Given the description of an element on the screen output the (x, y) to click on. 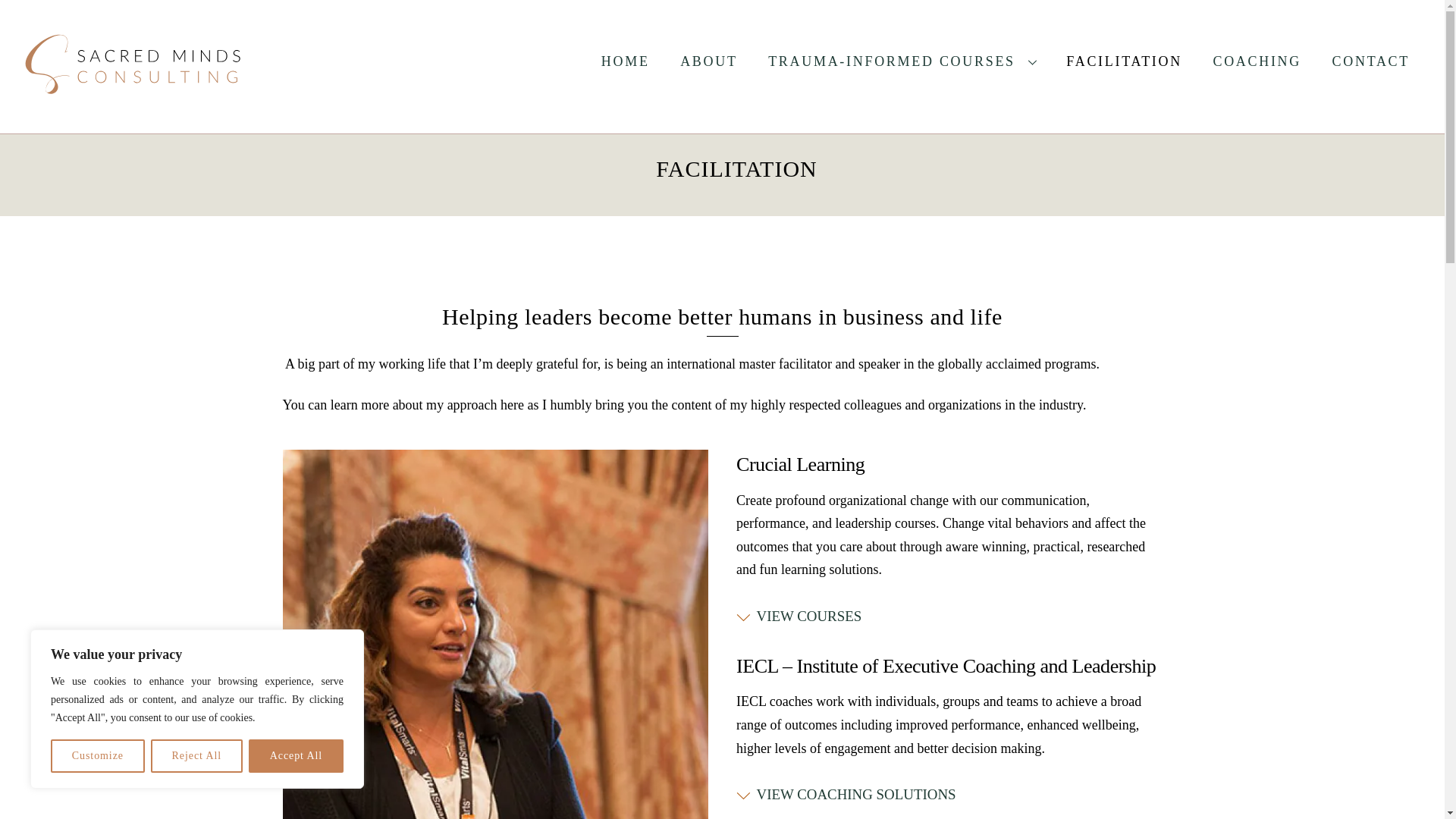
Sacred Minds Consulting (134, 113)
ABOUT (708, 61)
Reject All (197, 756)
TRAUMA-INFORMED COURSES (901, 61)
VIEW COURSES (798, 615)
CONTACT (1371, 61)
FACILITATION (1123, 61)
Customize (97, 756)
COACHING (1256, 61)
Accept All (295, 756)
VIEW COACHING SOLUTIONS (846, 795)
HOME (625, 61)
